Given the description of an element on the screen output the (x, y) to click on. 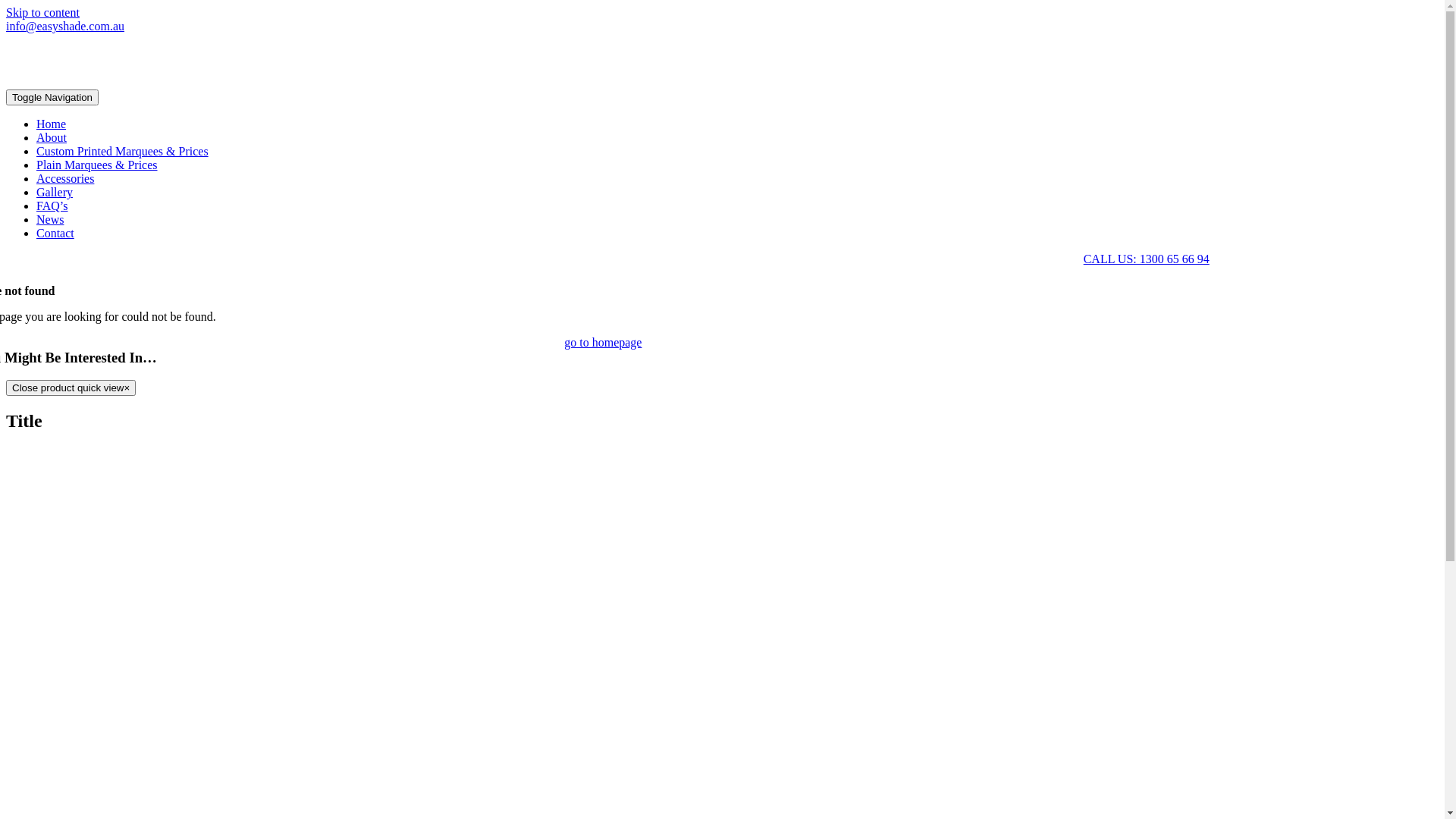
Accessories Element type: text (65, 178)
Toggle Navigation Element type: text (52, 97)
Plain Marquees & Prices Element type: text (96, 164)
Gallery Element type: text (54, 191)
About Element type: text (51, 137)
CALL US: 1300 65 66 94 Element type: text (1146, 258)
News Element type: text (49, 219)
info@easyshade.com.au Element type: text (65, 25)
Custom Printed Marquees & Prices Element type: text (122, 150)
go to homepage Element type: text (602, 341)
Contact Element type: text (55, 232)
Home Element type: text (50, 123)
Skip to content Element type: text (42, 12)
